Given the description of an element on the screen output the (x, y) to click on. 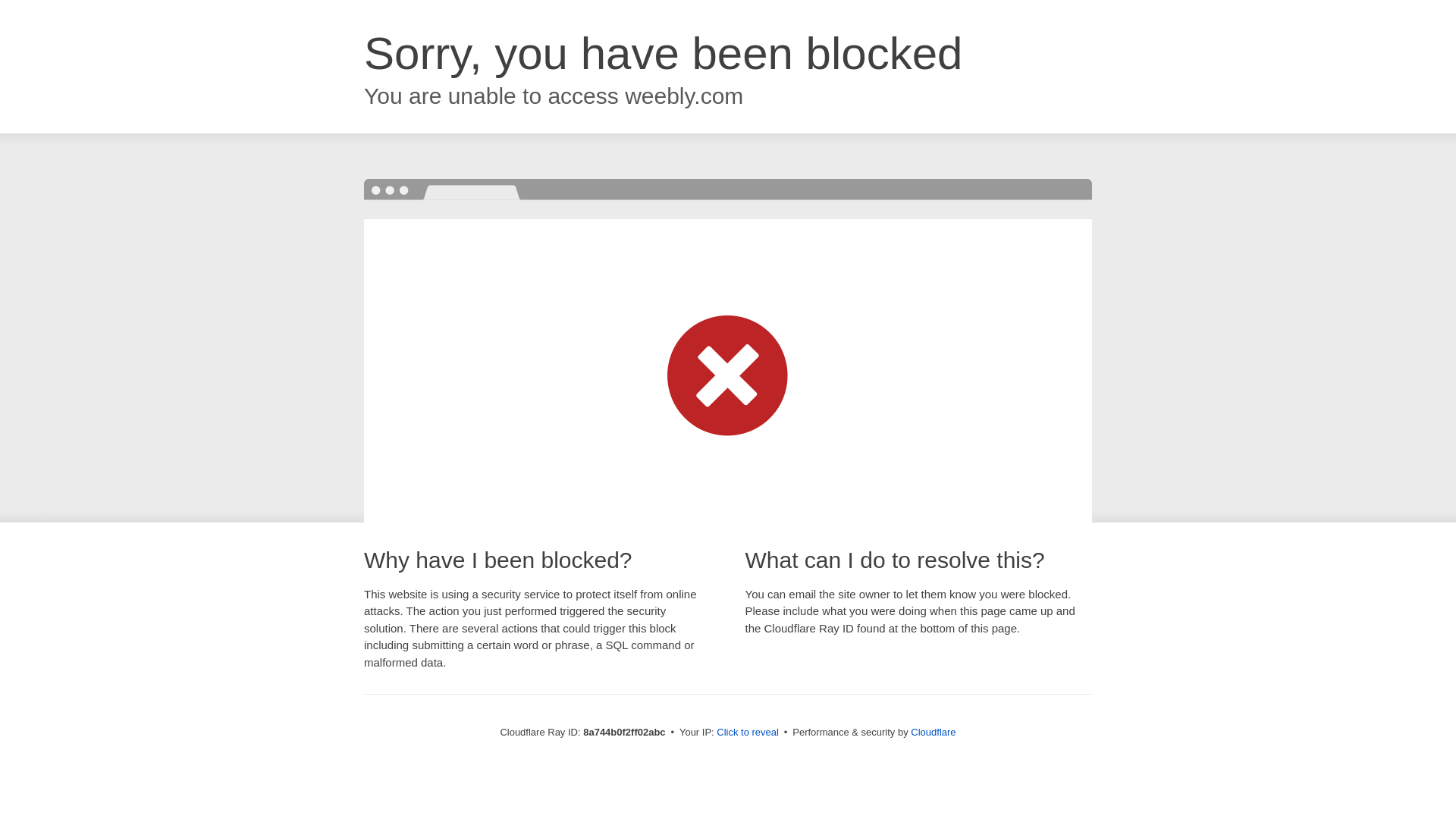
Click to reveal (747, 732)
Cloudflare (933, 731)
